Given the description of an element on the screen output the (x, y) to click on. 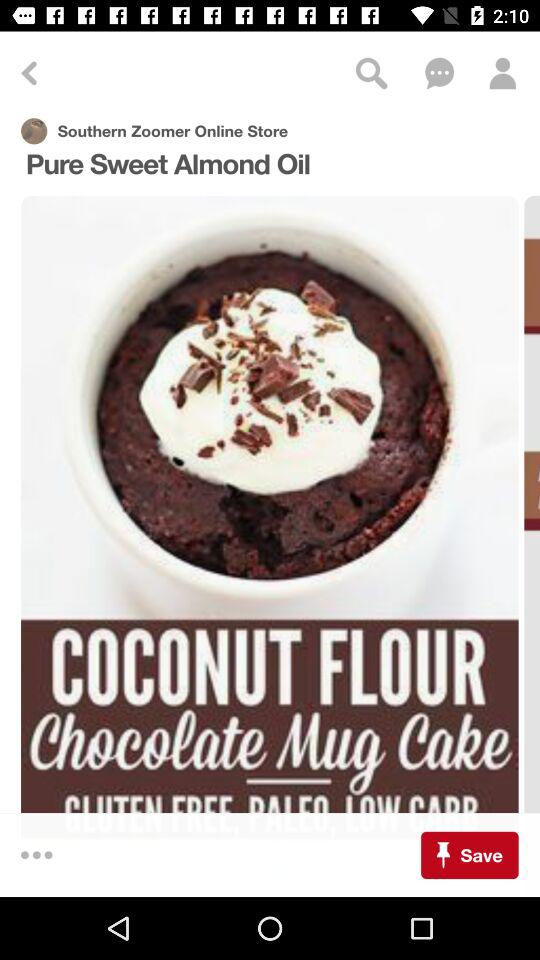
click on profile icon (502, 73)
select the text above pure sweet almond oil (172, 131)
